Given the description of an element on the screen output the (x, y) to click on. 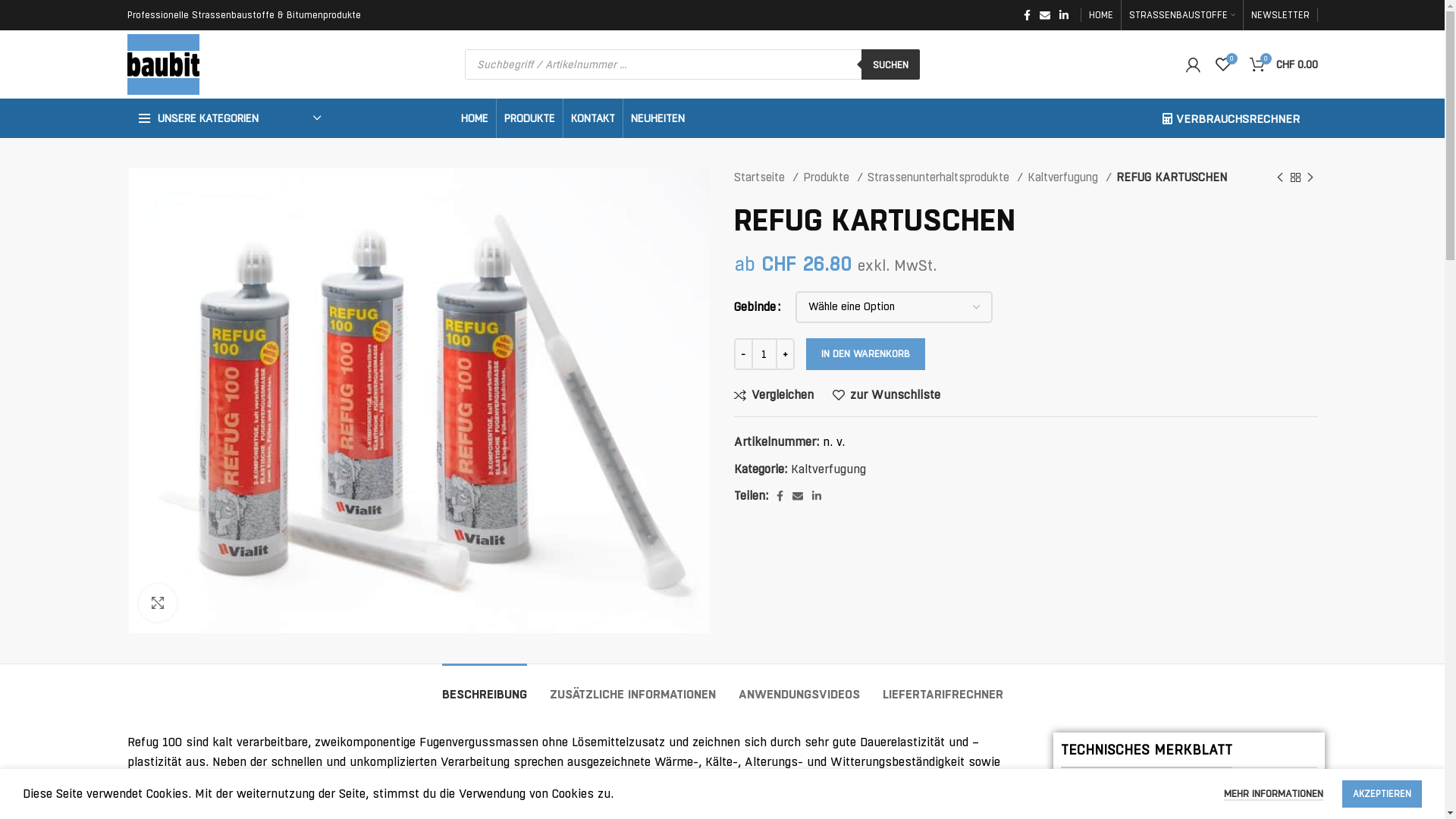
MEHR INFORMATIONEN Element type: text (1273, 793)
NEUHEITEN Element type: text (657, 118)
Kaltverfugung Element type: text (827, 468)
Refug-Kartuschen-Gruppenbild Element type: hover (418, 400)
NEWSLETTER Element type: text (1280, 15)
AKZEPTIEREN Element type: text (1381, 793)
0 Element type: text (1222, 64)
zur Wunschliste Element type: text (886, 395)
Strassenunterhaltsprodukte Element type: text (944, 177)
Startseite Element type: text (766, 177)
BESCHREIBUNG Element type: text (483, 686)
HOME Element type: text (474, 118)
ANWENDUNGSVIDEOS Element type: text (798, 686)
IN DEN WARENKORB Element type: text (864, 354)
HOME Element type: text (1100, 15)
LIEFERTARIFRECHNER Element type: text (942, 686)
0
CHF 0.00 Element type: text (1283, 64)
Kaltverfugung Element type: text (1068, 177)
SUCHEN Element type: text (890, 64)
KONTAKT Element type: text (591, 118)
STRASSENBAUSTOFFE Element type: text (1181, 15)
Produkte Element type: text (832, 177)
VERBRAUCHSRECHNER Element type: text (1230, 117)
My account Element type: hover (1193, 64)
Menge Element type: hover (763, 354)
PRODUKTE Element type: text (528, 118)
Vergleichen Element type: text (773, 395)
